Given the description of an element on the screen output the (x, y) to click on. 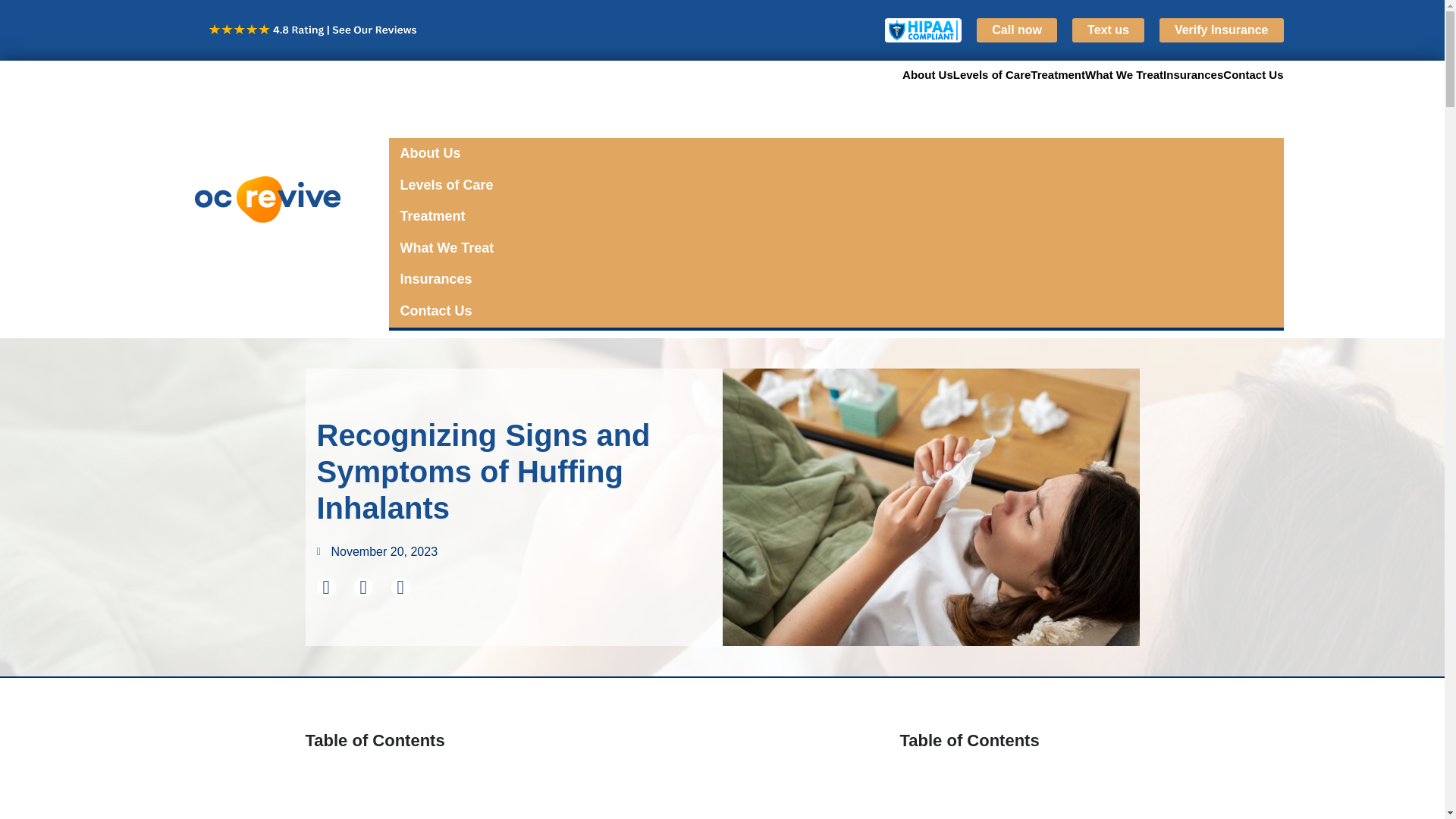
Levels of Care (991, 74)
Text us (1107, 30)
Verify Insurance (1221, 30)
Call now (1016, 30)
About Us (927, 74)
Treatment (1057, 74)
